Given the description of an element on the screen output the (x, y) to click on. 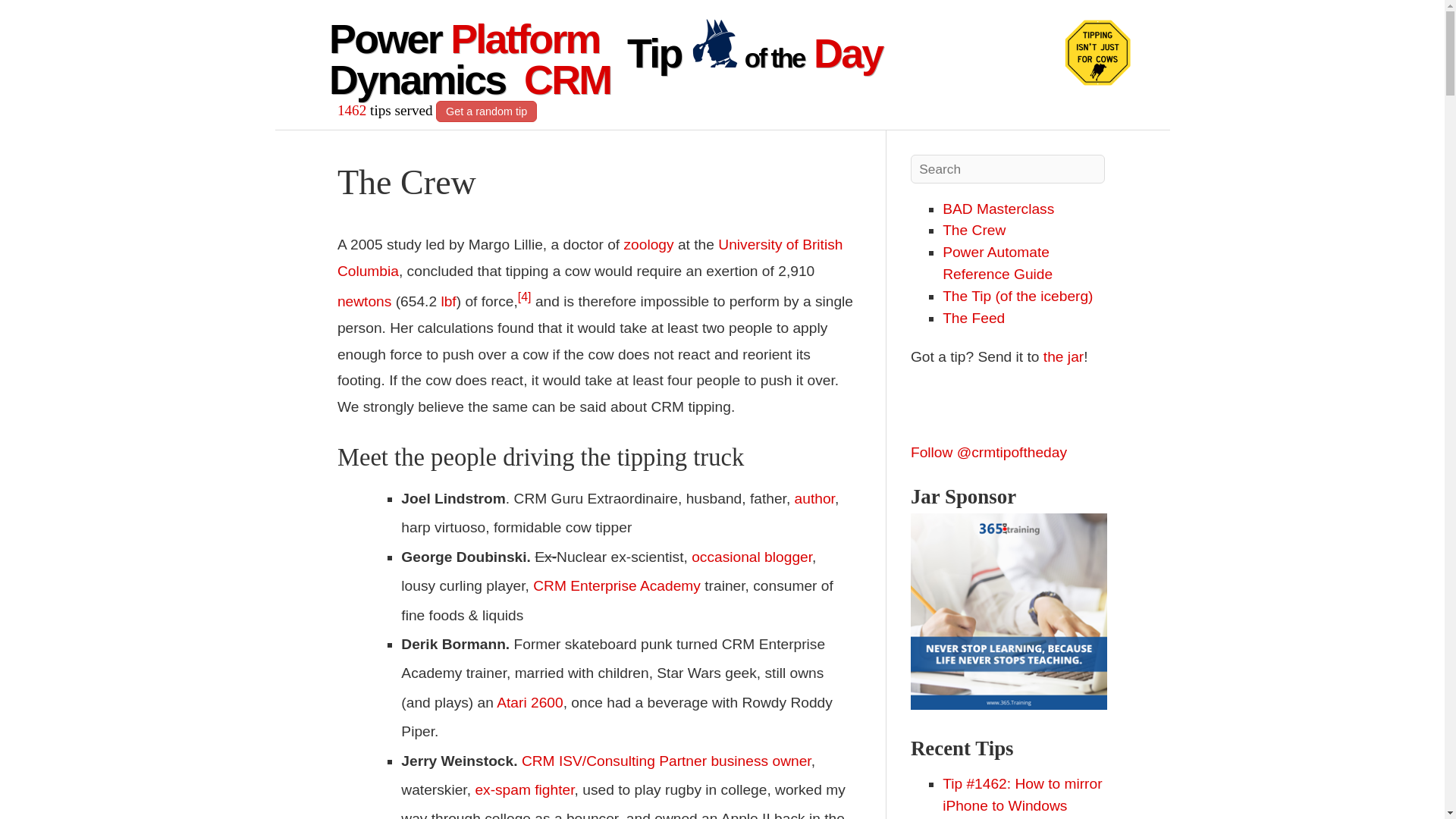
CRM Field Guide (814, 498)
Who we are (974, 229)
newtons (364, 302)
Dynamics CRM Enterprise Academy (616, 585)
University of British Columbia (590, 257)
occasional blogger (751, 556)
No cow tipping allowed (714, 42)
How to make money in Kansas (523, 789)
Ancient Atari 2600 (529, 702)
CRM Enterprise Academy (616, 585)
